Given the description of an element on the screen output the (x, y) to click on. 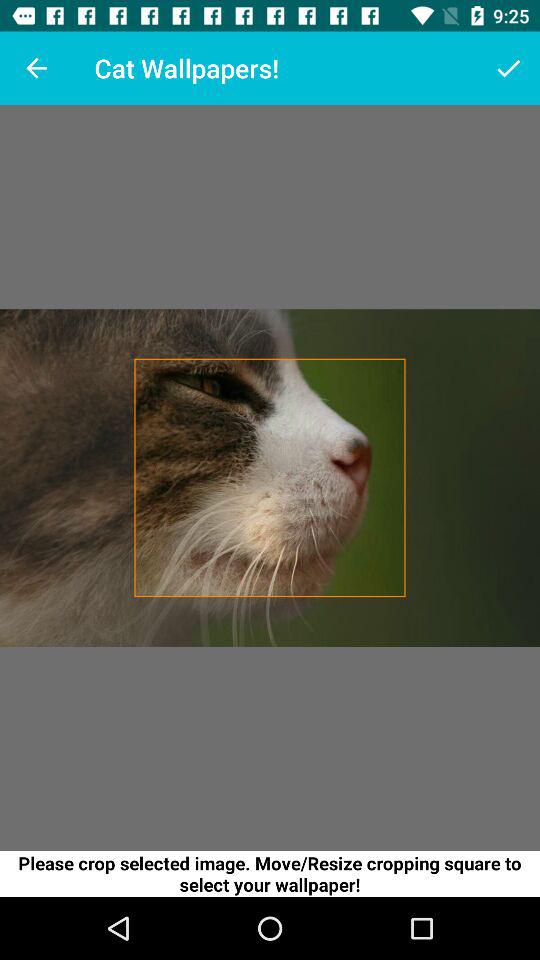
open item next to the cat wallpapers! item (36, 68)
